Given the description of an element on the screen output the (x, y) to click on. 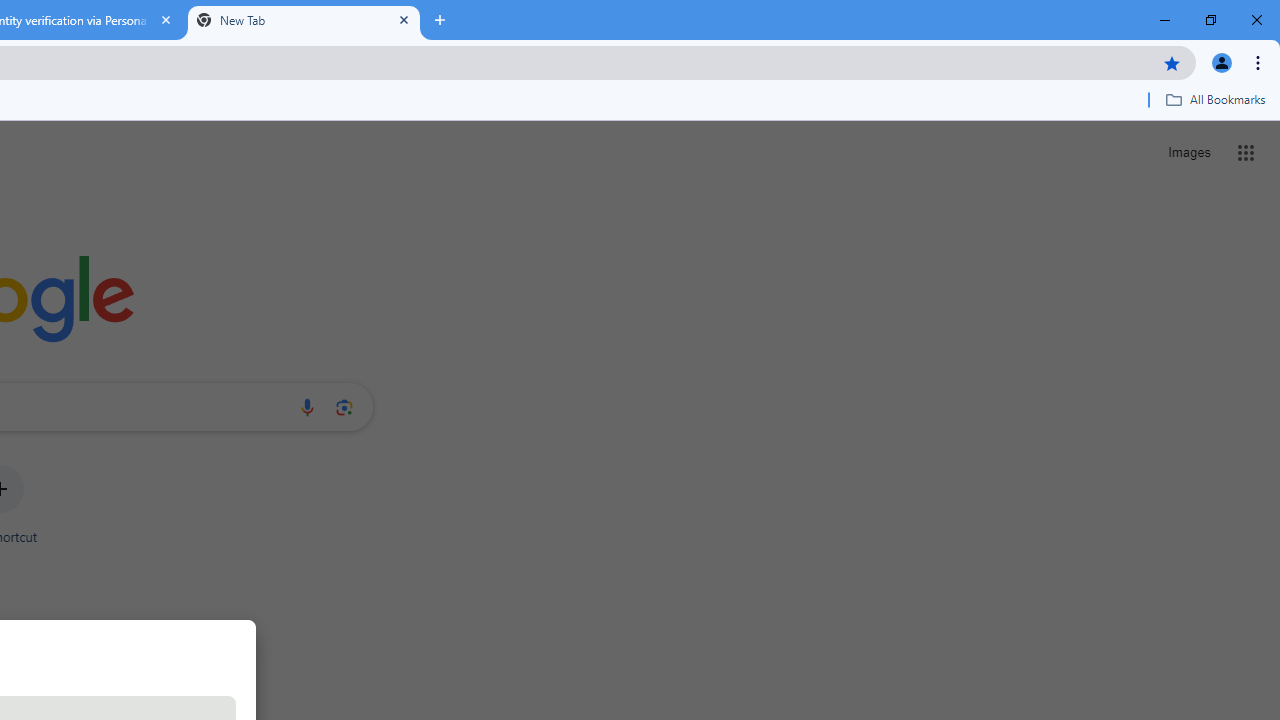
New Tab (304, 20)
